Given the description of an element on the screen output the (x, y) to click on. 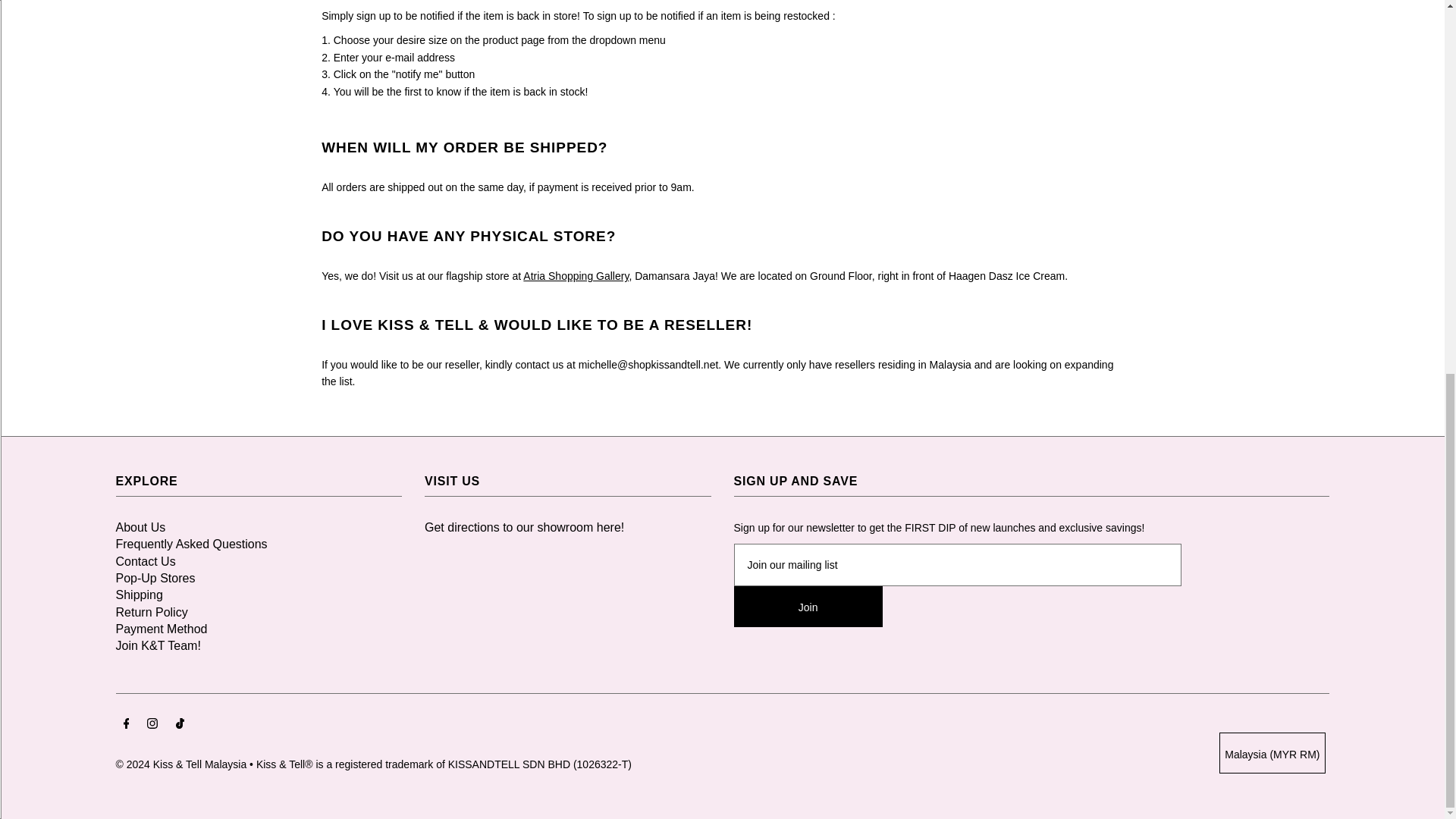
Join (807, 606)
